Given the description of an element on the screen output the (x, y) to click on. 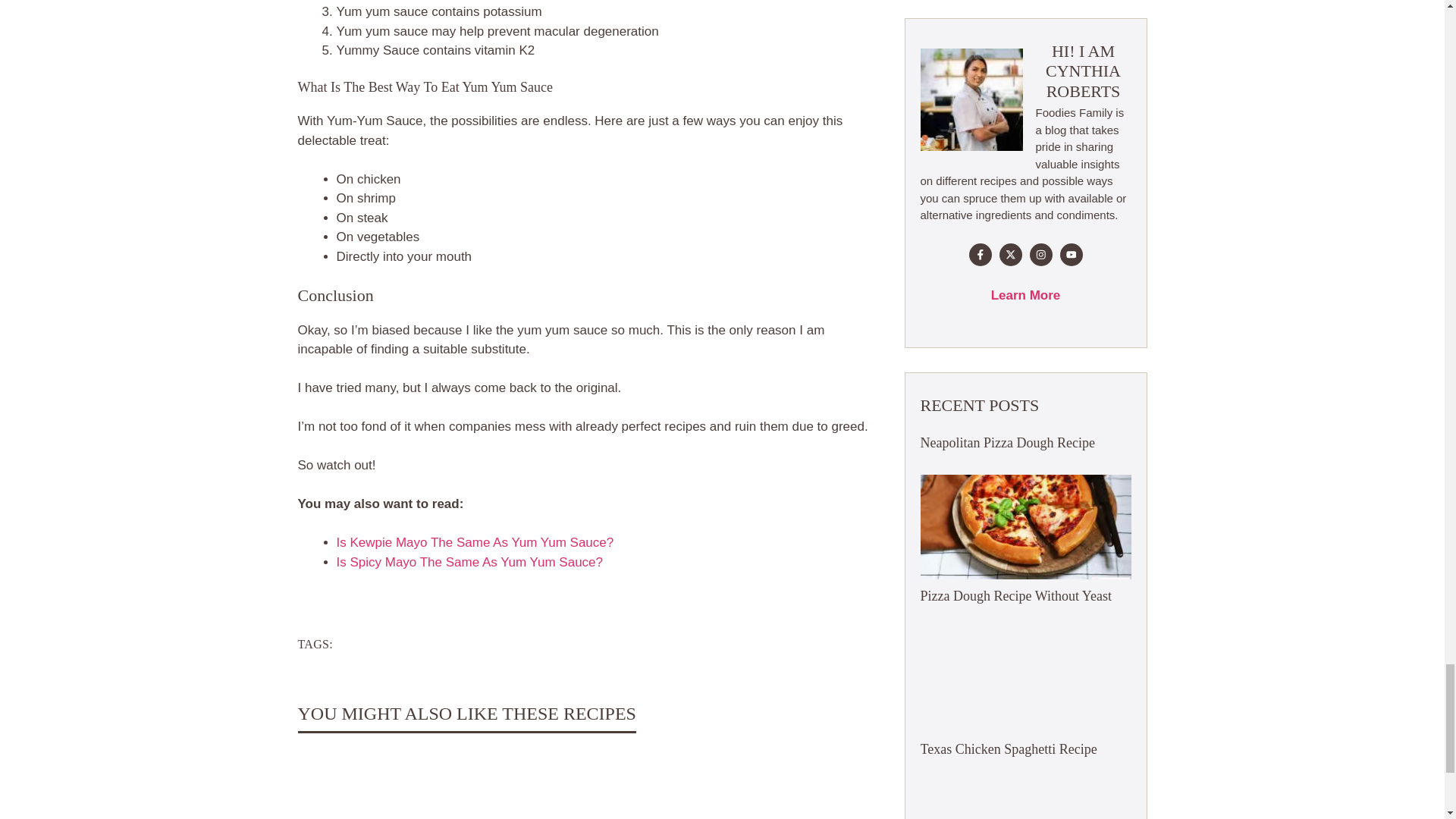
Is Kewpie Mayo The Same As Yum Yum Sauce? (475, 542)
Is Spicy Mayo The Same As Yum Yum Sauce? (470, 562)
